Given the description of an element on the screen output the (x, y) to click on. 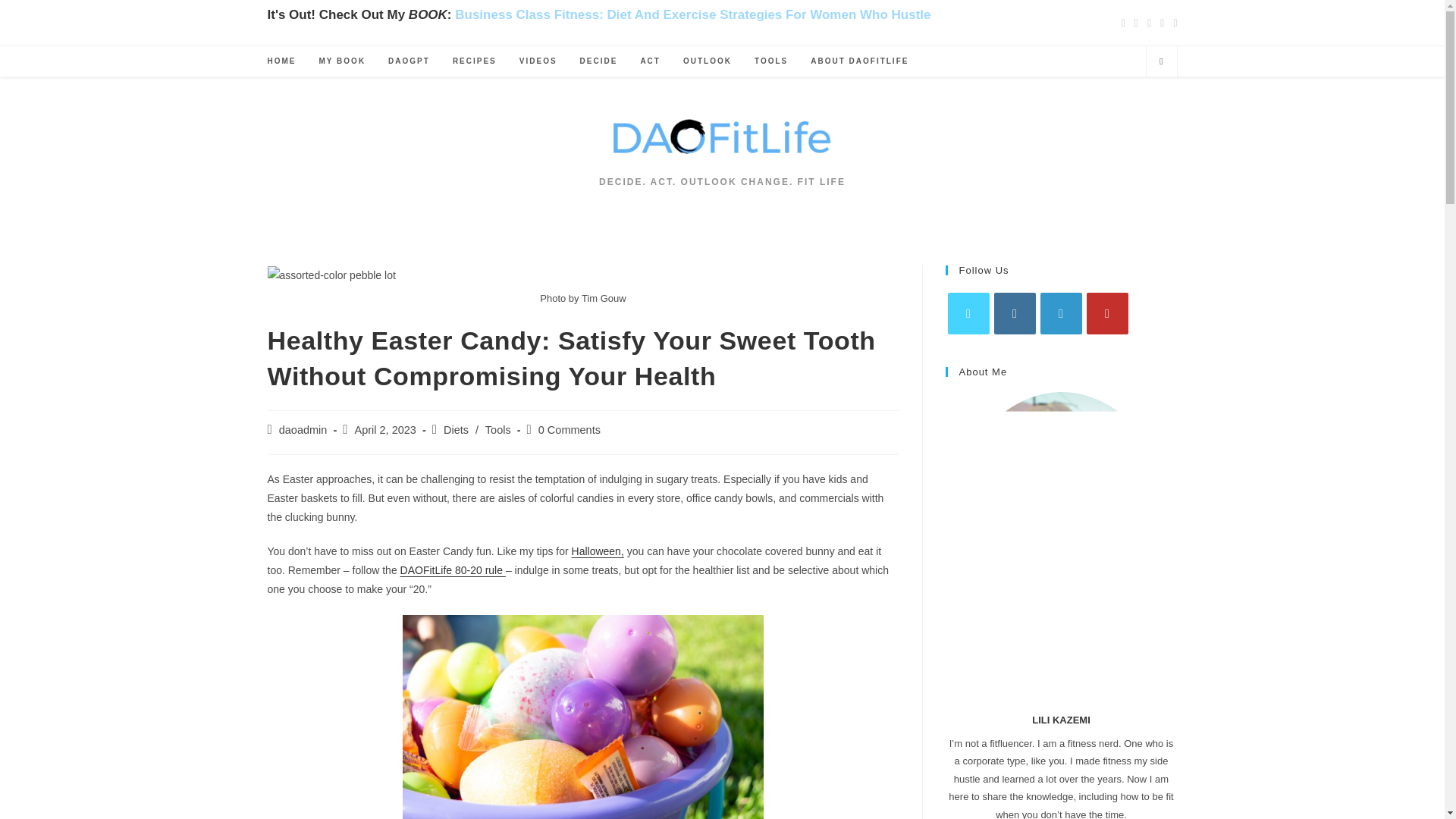
TOOLS (770, 60)
Posts by daoadmin (303, 429)
HOME (281, 60)
MY BOOK (342, 60)
DECIDE (598, 60)
ABOUT DAOFITLIFE (859, 60)
DAOGPT (409, 60)
ACT (649, 60)
VIDEOS (538, 60)
OUTLOOK (706, 60)
RECIPES (474, 60)
